Given the description of an element on the screen output the (x, y) to click on. 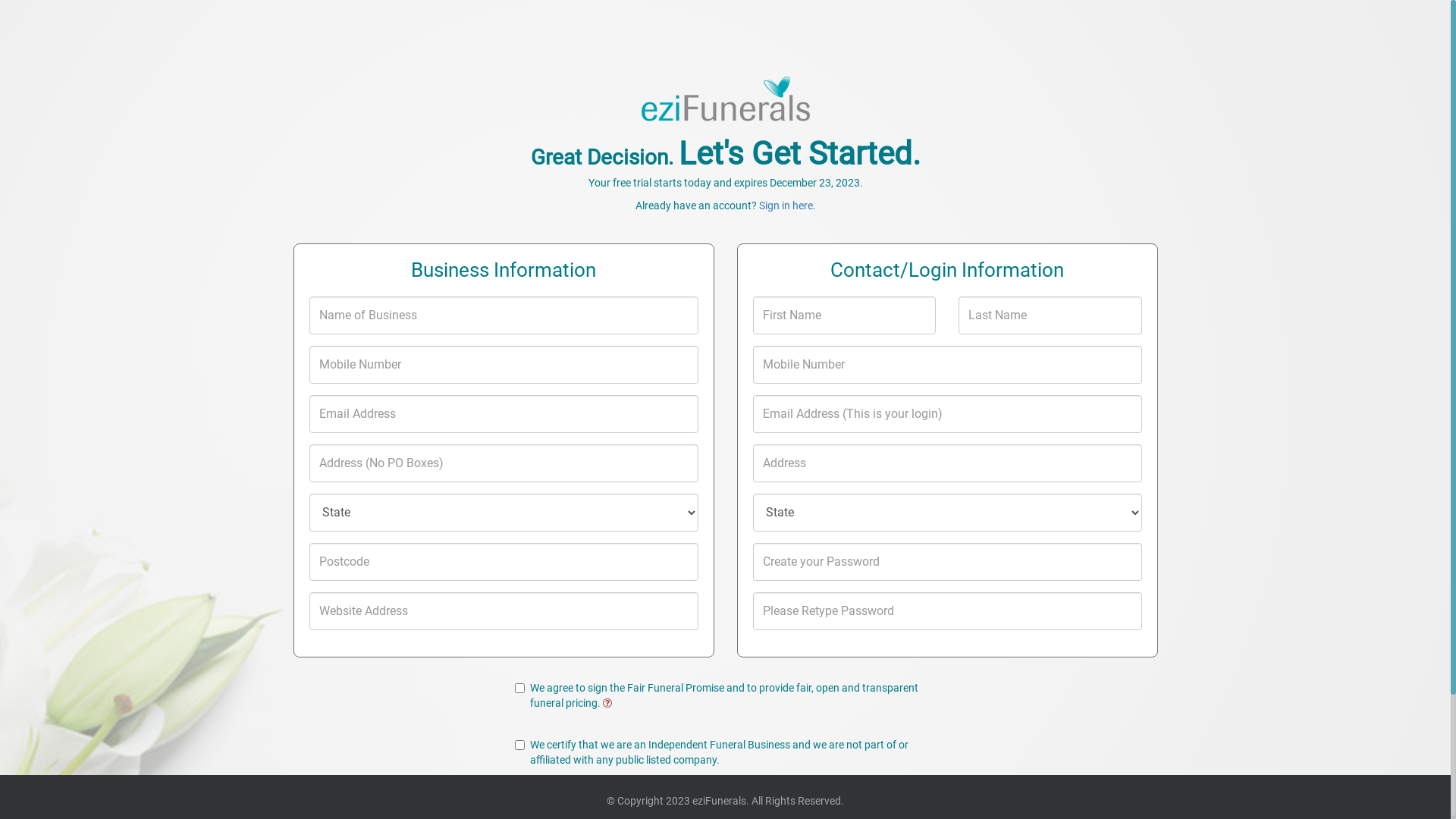
Term and Conditions Element type: text (877, 793)
Sign in here. Element type: text (786, 205)
